Given the description of an element on the screen output the (x, y) to click on. 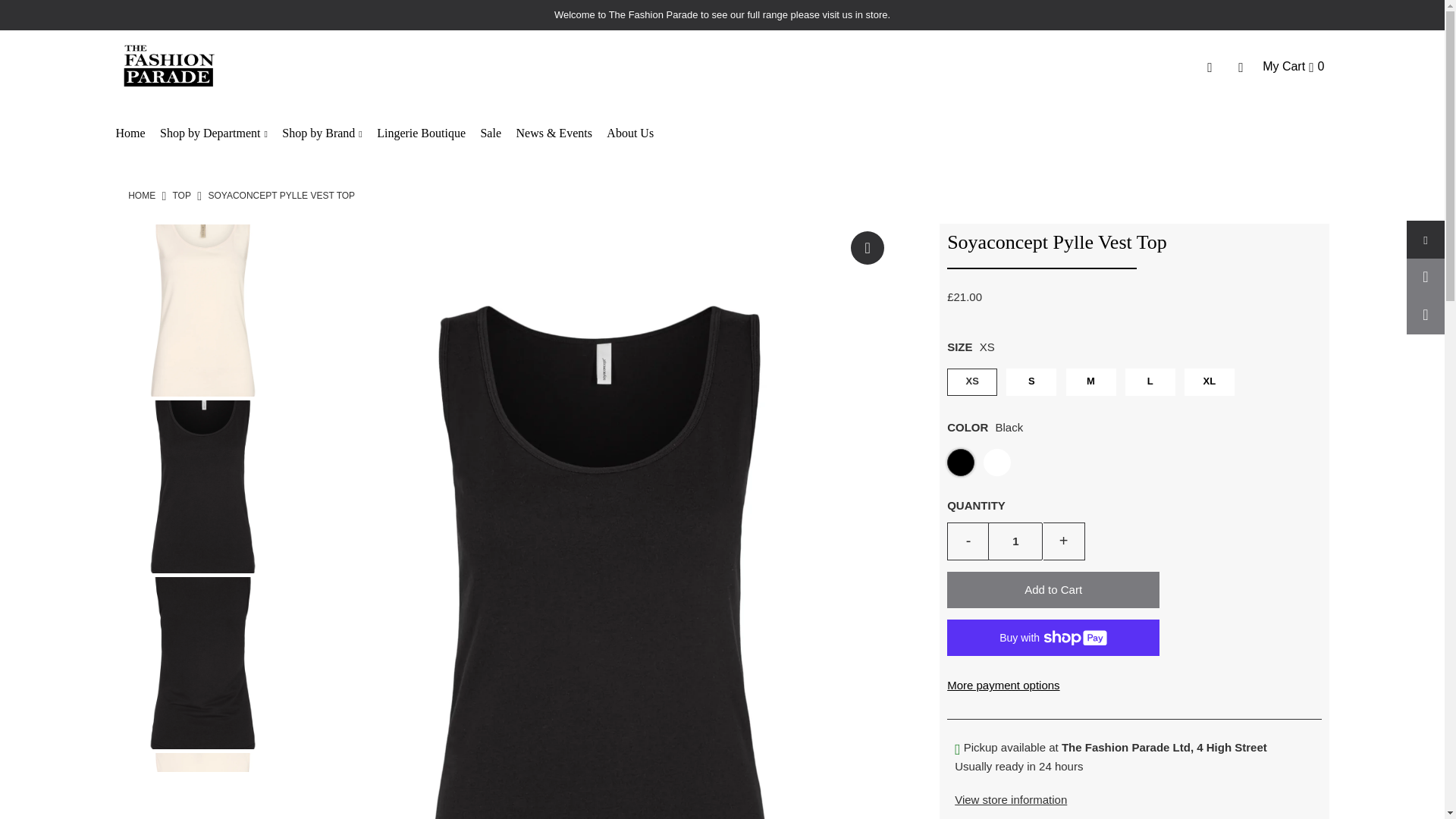
Add to Cart (1052, 589)
1 (1015, 541)
Home (141, 195)
Top (180, 195)
Shop by Brand (327, 132)
Shop by Department (219, 132)
Home (135, 132)
